Given the description of an element on the screen output the (x, y) to click on. 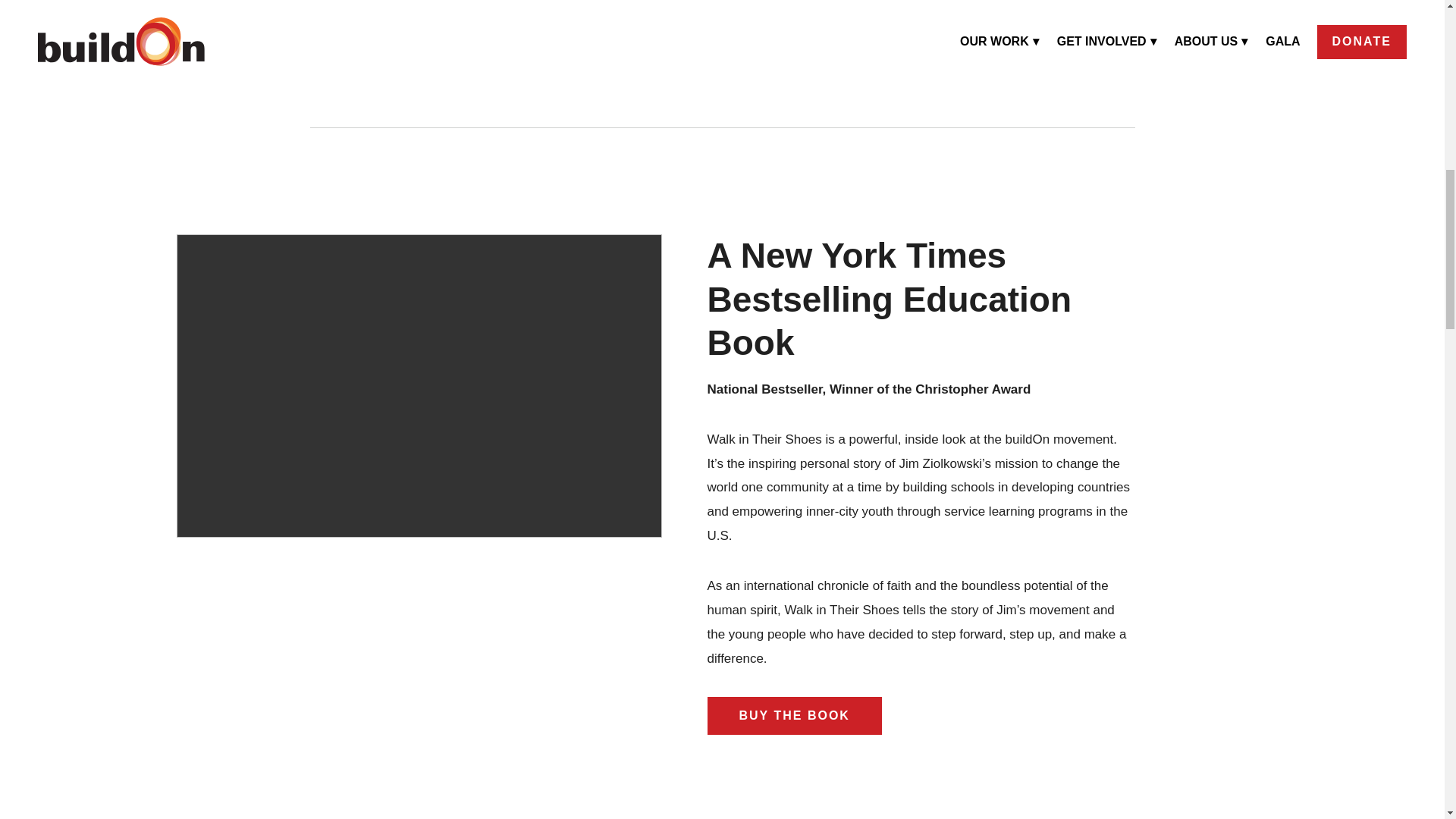
BUY THE BOOK (723, 62)
BUY THE BOOK (793, 715)
